Given the description of an element on the screen output the (x, y) to click on. 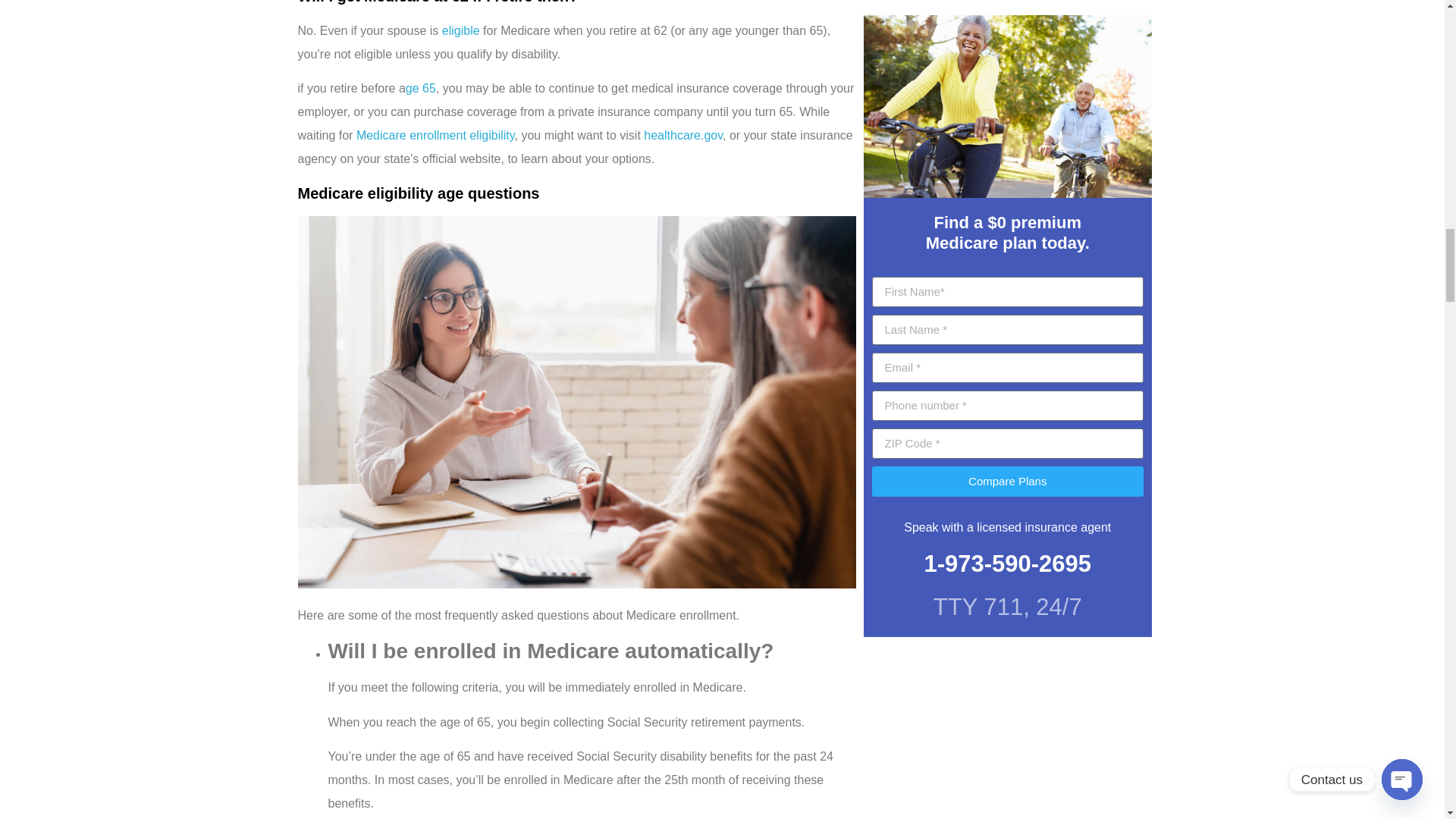
ge 65 (420, 88)
eligible (461, 30)
healthcare.gov (682, 134)
Medicare enrollment eligibility (435, 134)
